Given the description of an element on the screen output the (x, y) to click on. 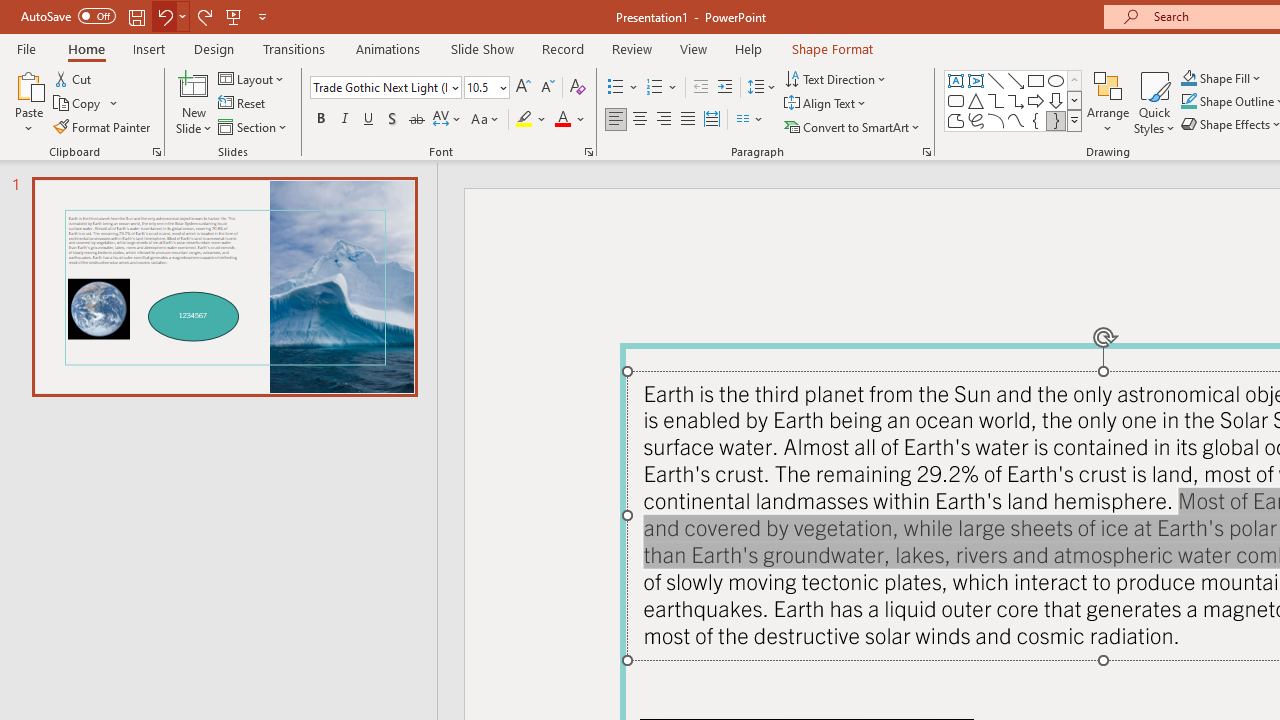
Section (254, 126)
Font... (588, 151)
Text Box (955, 80)
Center (639, 119)
